Given the description of an element on the screen output the (x, y) to click on. 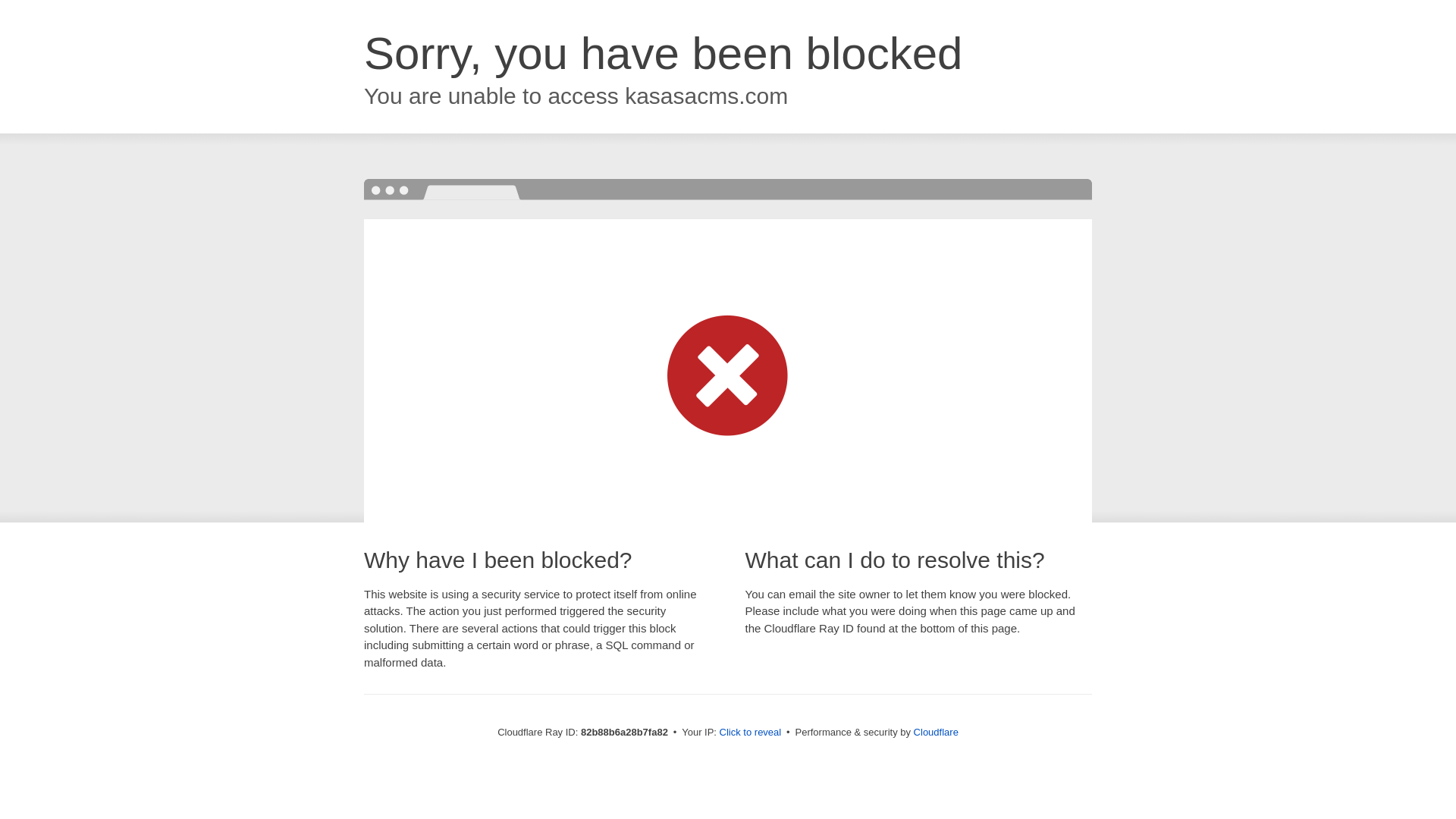
Cloudflare Element type: text (935, 731)
Click to reveal Element type: text (750, 732)
